Given the description of an element on the screen output the (x, y) to click on. 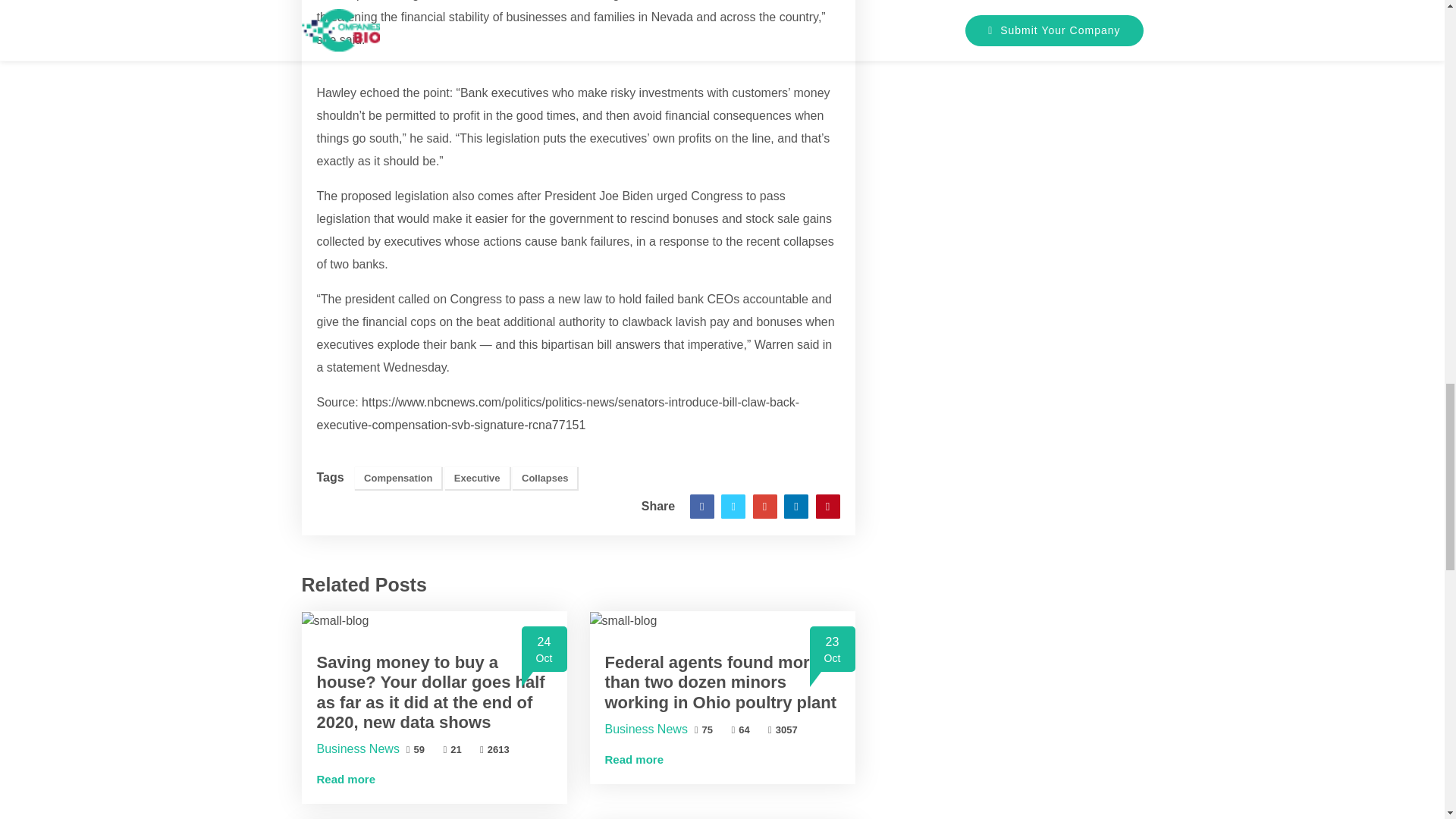
Compensation (335, 619)
2613 (398, 477)
Collapses (494, 749)
executive (544, 477)
Business News (517, 92)
executive (357, 748)
21 (517, 92)
executive (451, 749)
59 (615, 137)
